Given the description of an element on the screen output the (x, y) to click on. 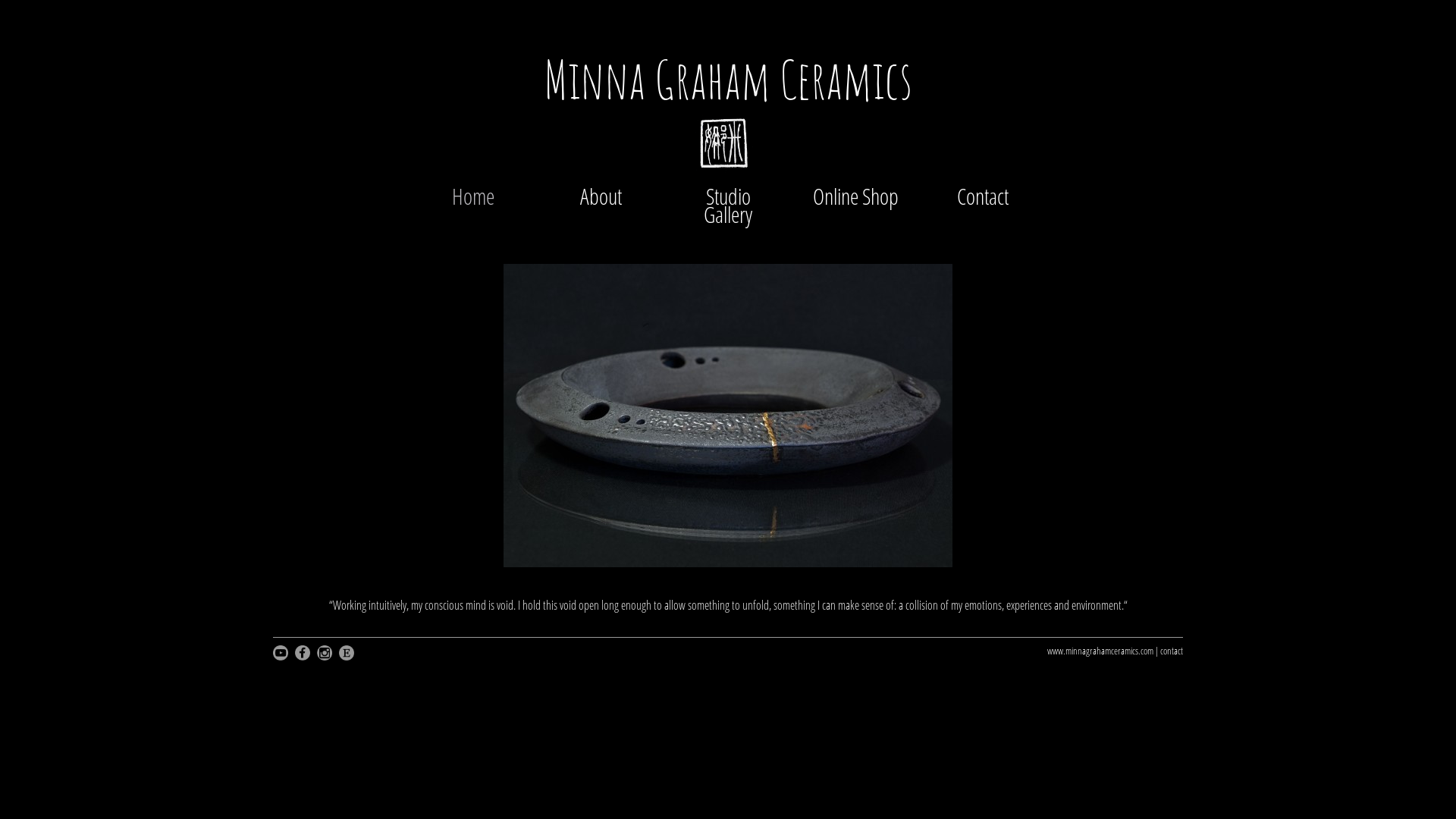
Minna Graham Ceramics Element type: text (727, 79)
Online Shop Element type: text (855, 196)
contact Element type: text (1171, 650)
About Element type: text (600, 196)
www.minnagrahamceramics.com Element type: text (1100, 650)
Studio Gallery Element type: text (727, 205)
Contact Element type: text (982, 196)
instagram Element type: hover (326, 652)
etsy Element type: hover (348, 652)
home Element type: hover (727, 152)
facebook Element type: hover (304, 652)
Home Element type: text (472, 196)
youtube Element type: hover (283, 652)
